Given the description of an element on the screen output the (x, y) to click on. 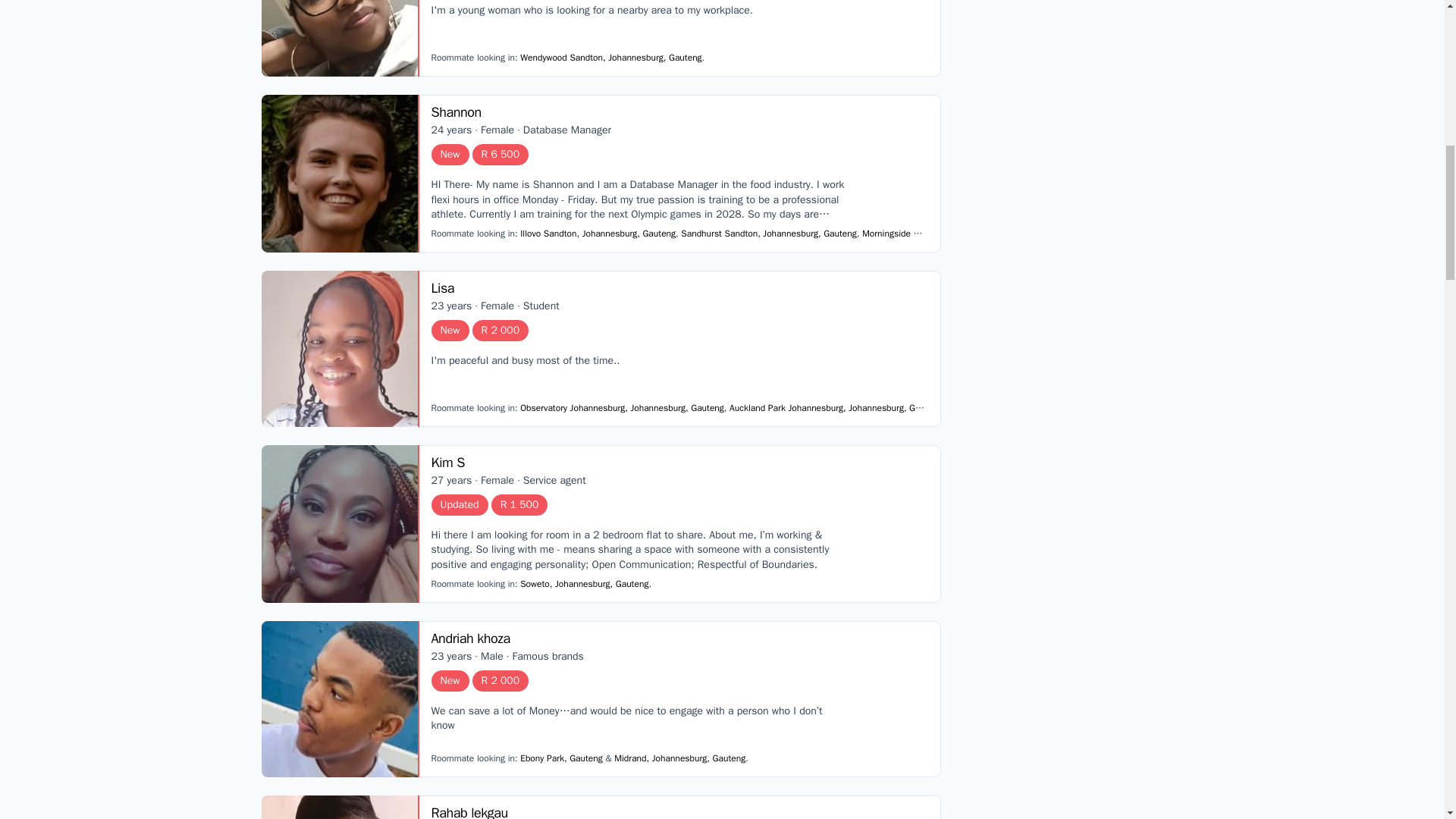
Wendywood Sandton, Johannesburg, Gauteng (610, 57)
Illovo Sandton, Johannesburg, Gauteng (597, 233)
